Given the description of an element on the screen output the (x, y) to click on. 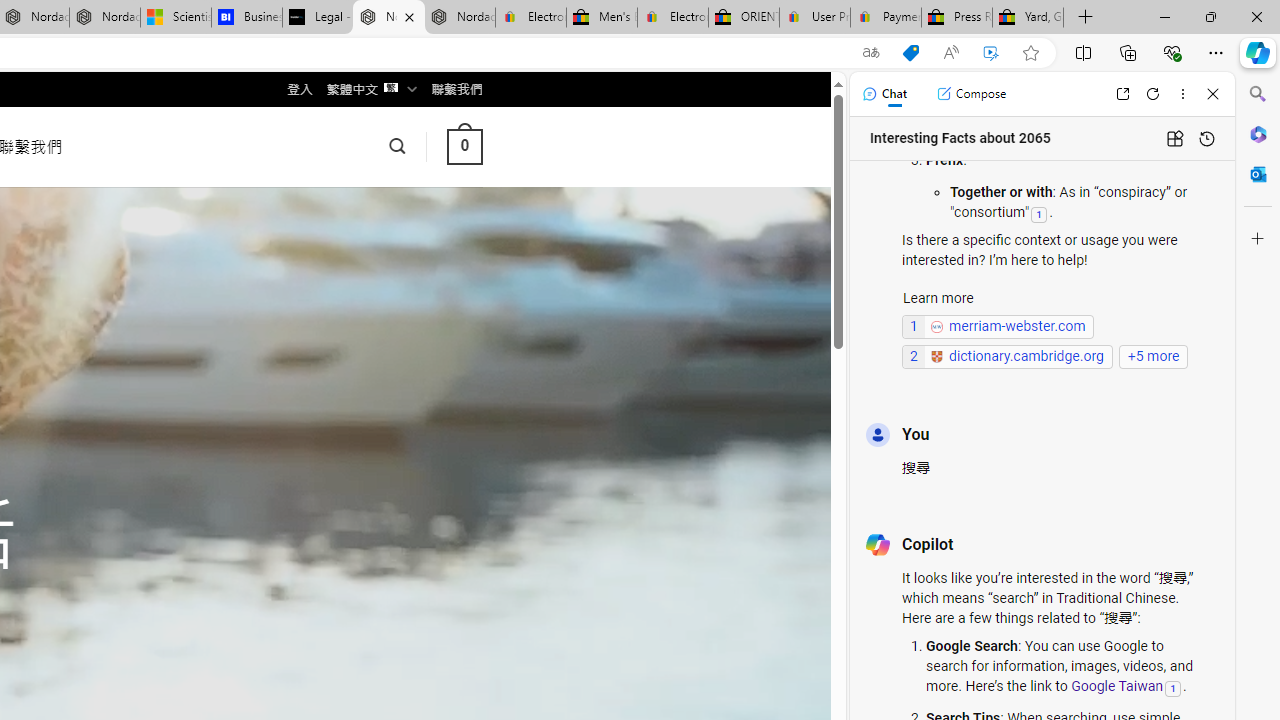
Compose (971, 93)
 0  (464, 146)
  0   (464, 146)
Enhance video (991, 53)
